Given the description of an element on the screen output the (x, y) to click on. 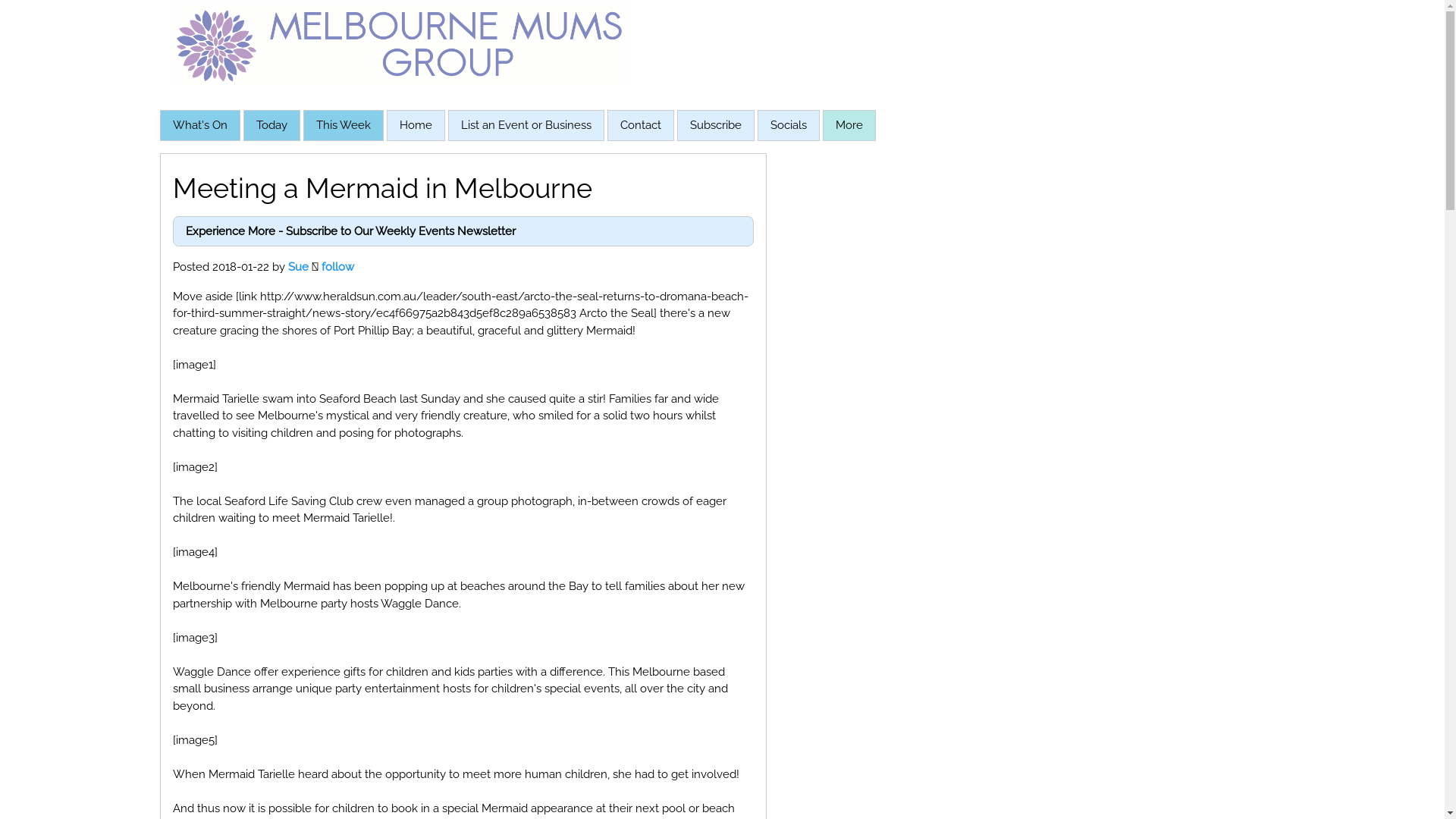
Socials Element type: text (787, 125)
List an Event or Business Element type: text (526, 124)
Sue Element type: text (298, 266)
What's On Element type: text (199, 124)
Contact Element type: text (640, 124)
Subscribe Element type: text (715, 124)
More Element type: text (848, 125)
This Week Element type: text (342, 124)
Today Element type: text (271, 124)
follow Element type: text (337, 266)
Home Element type: text (414, 124)
